Given the description of an element on the screen output the (x, y) to click on. 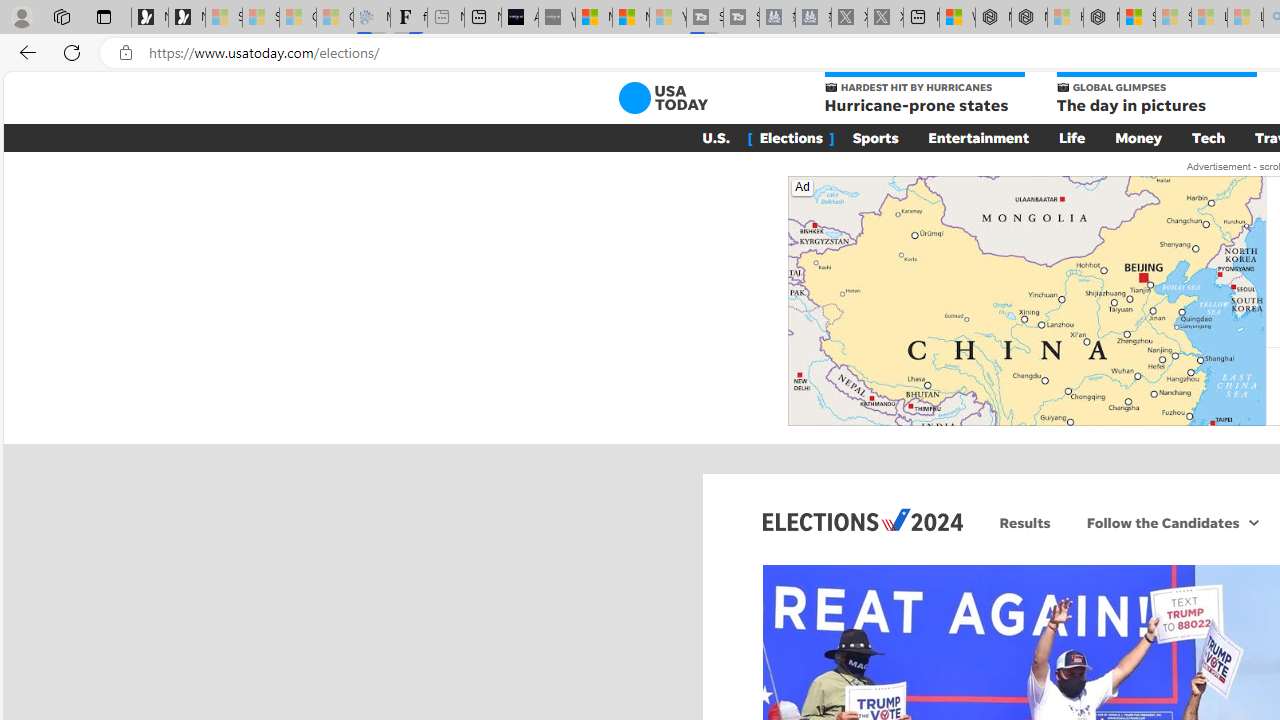
Nordace - Nordace Siena Is Not An Ordinary Backpack (1101, 17)
Tech (1208, 137)
Class: ns-8fxrh-e-4 (1026, 300)
What's the best AI voice generator? - voice.ai - Sleeping (556, 17)
New tab - Sleeping (445, 17)
Wildlife - MSN (957, 17)
Class: gnt_sn_a_svg gnt_sn_a__db_svg (1253, 522)
Results (1025, 521)
U.S. (715, 137)
Elections 2024 (861, 519)
Money (1138, 137)
